Given the description of an element on the screen output the (x, y) to click on. 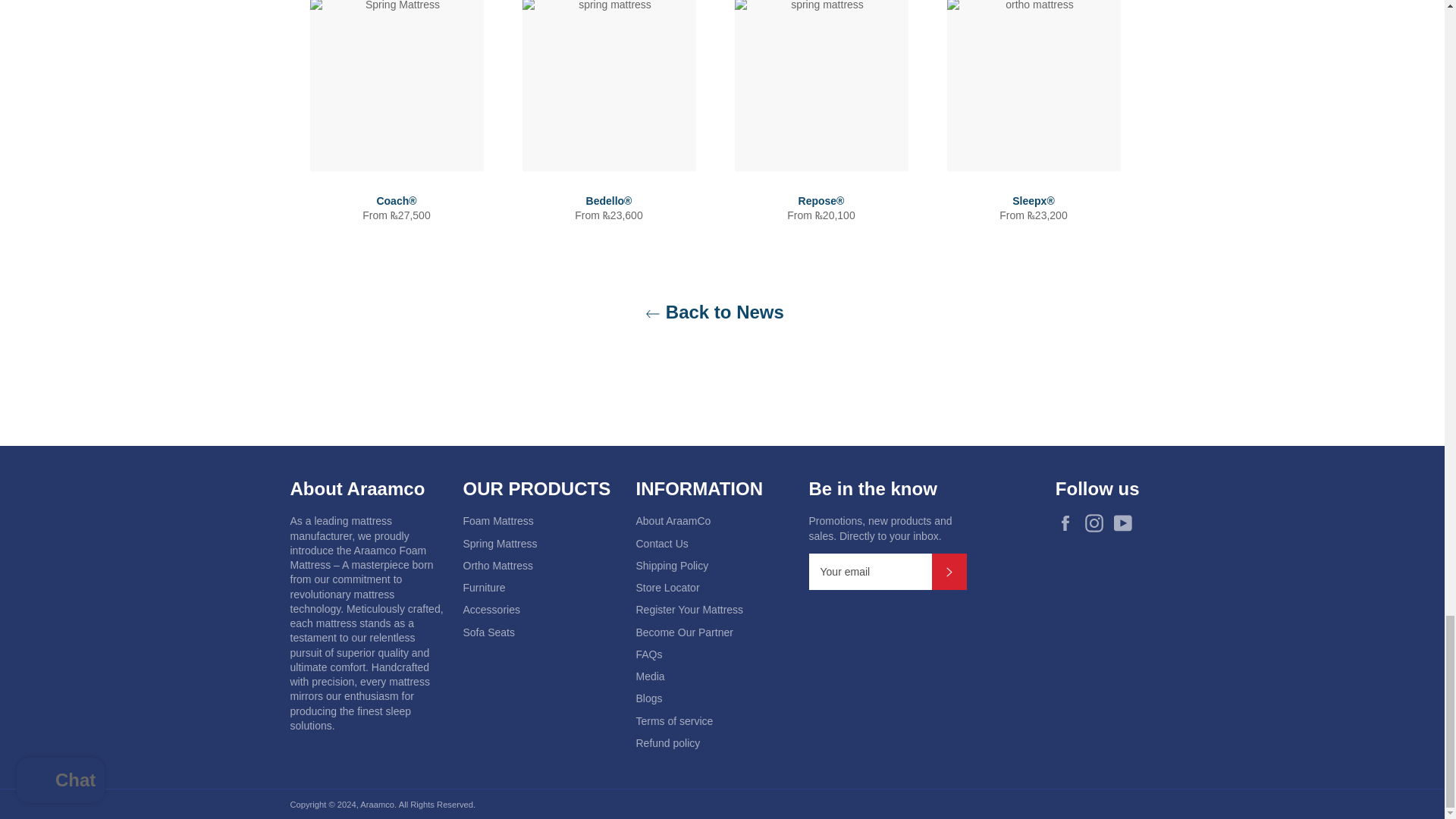
Araamco on Facebook (1069, 523)
Araamco on Instagram (1097, 523)
Back to News (714, 311)
Araamco on YouTube (1125, 523)
